Given the description of an element on the screen output the (x, y) to click on. 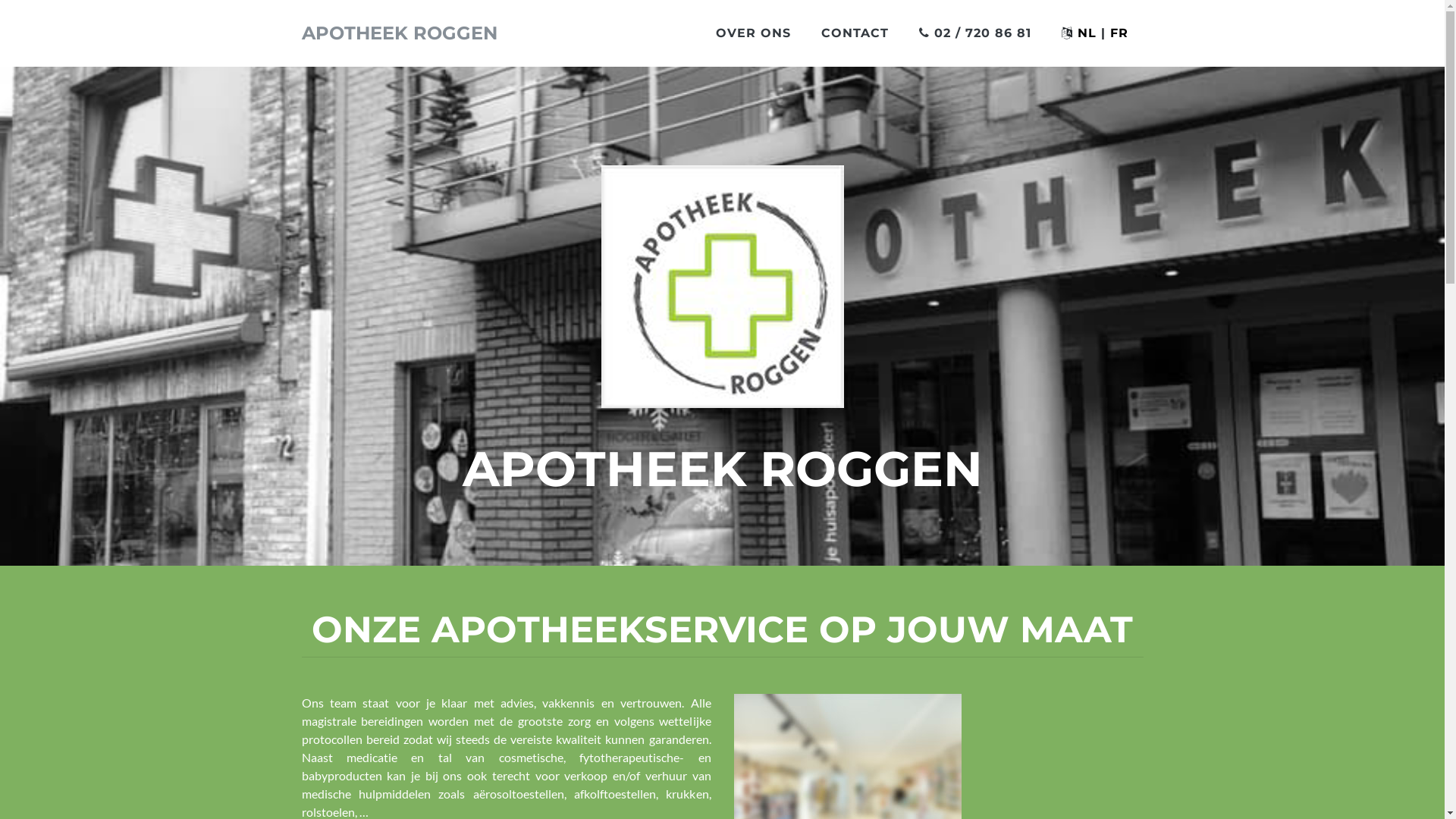
OVER ONS Element type: text (753, 33)
APOTHEEK ROGGEN Element type: text (399, 32)
CONTACT Element type: text (854, 33)
FR Element type: text (1119, 32)
NL Element type: text (1085, 32)
02 / 720 86 81 Element type: text (974, 33)
